Given the description of an element on the screen output the (x, y) to click on. 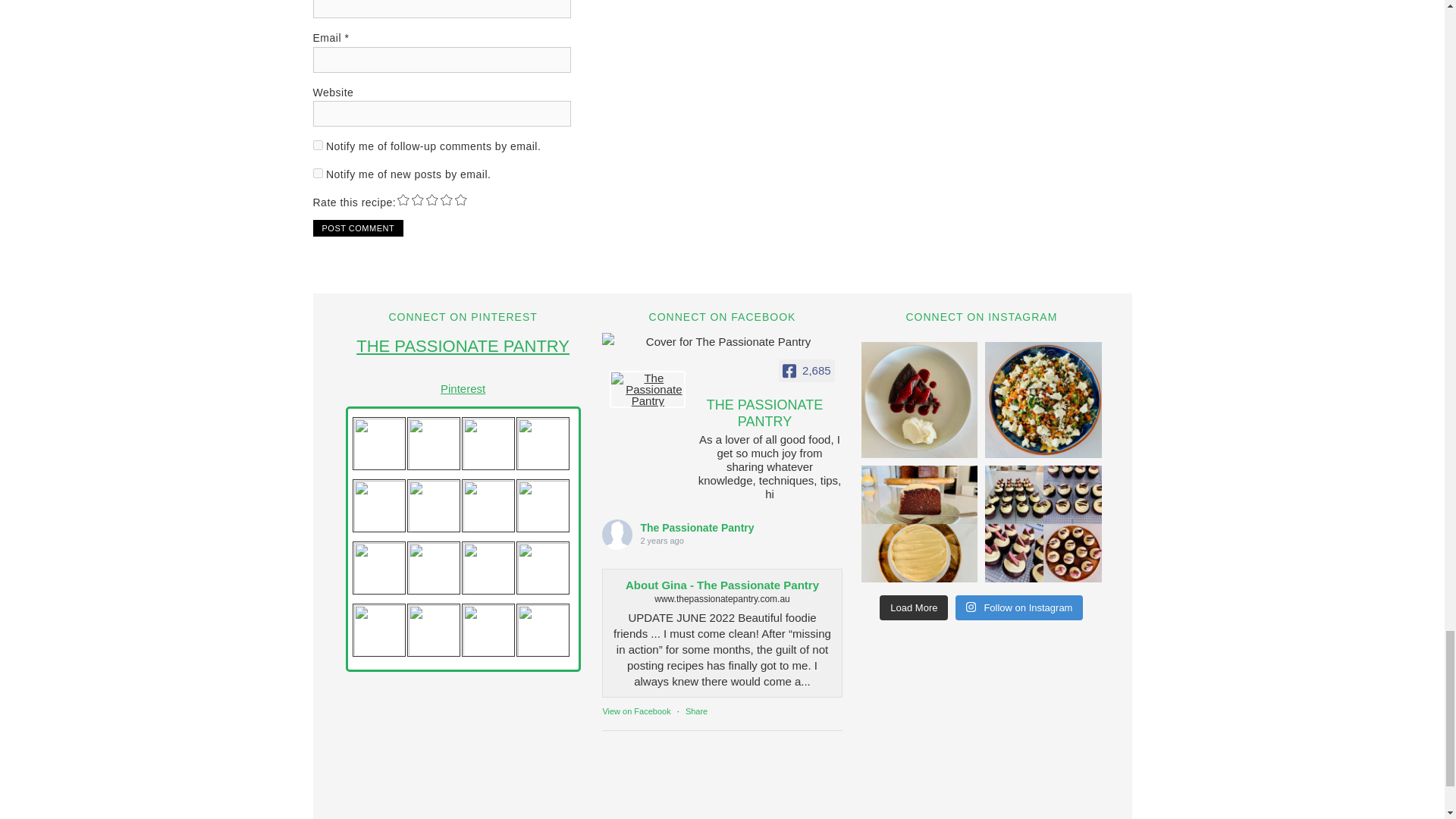
subscribe (317, 173)
Post Comment (358, 228)
subscribe (317, 144)
